Given the description of an element on the screen output the (x, y) to click on. 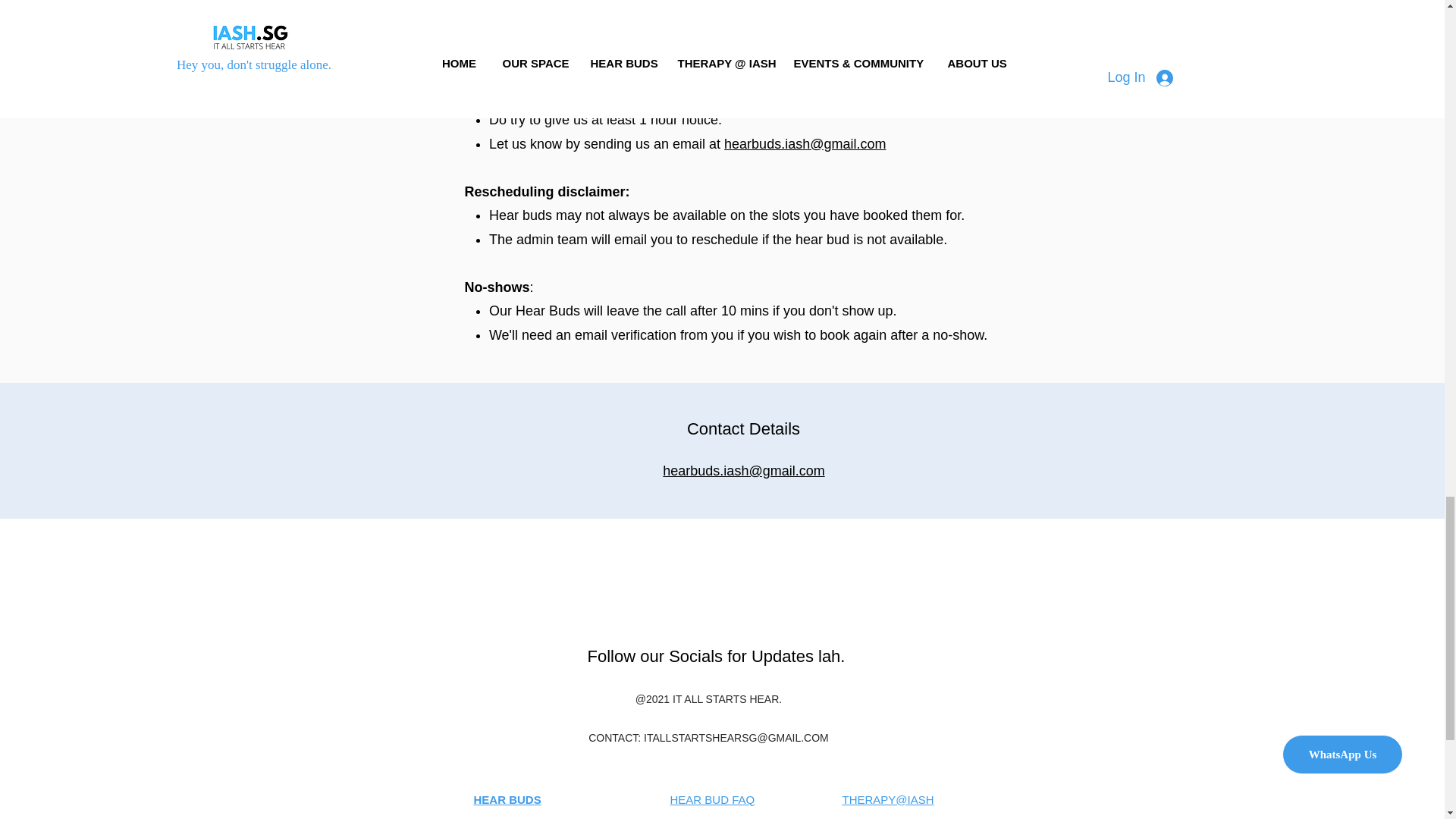
HEAR BUDS (506, 799)
